Given the description of an element on the screen output the (x, y) to click on. 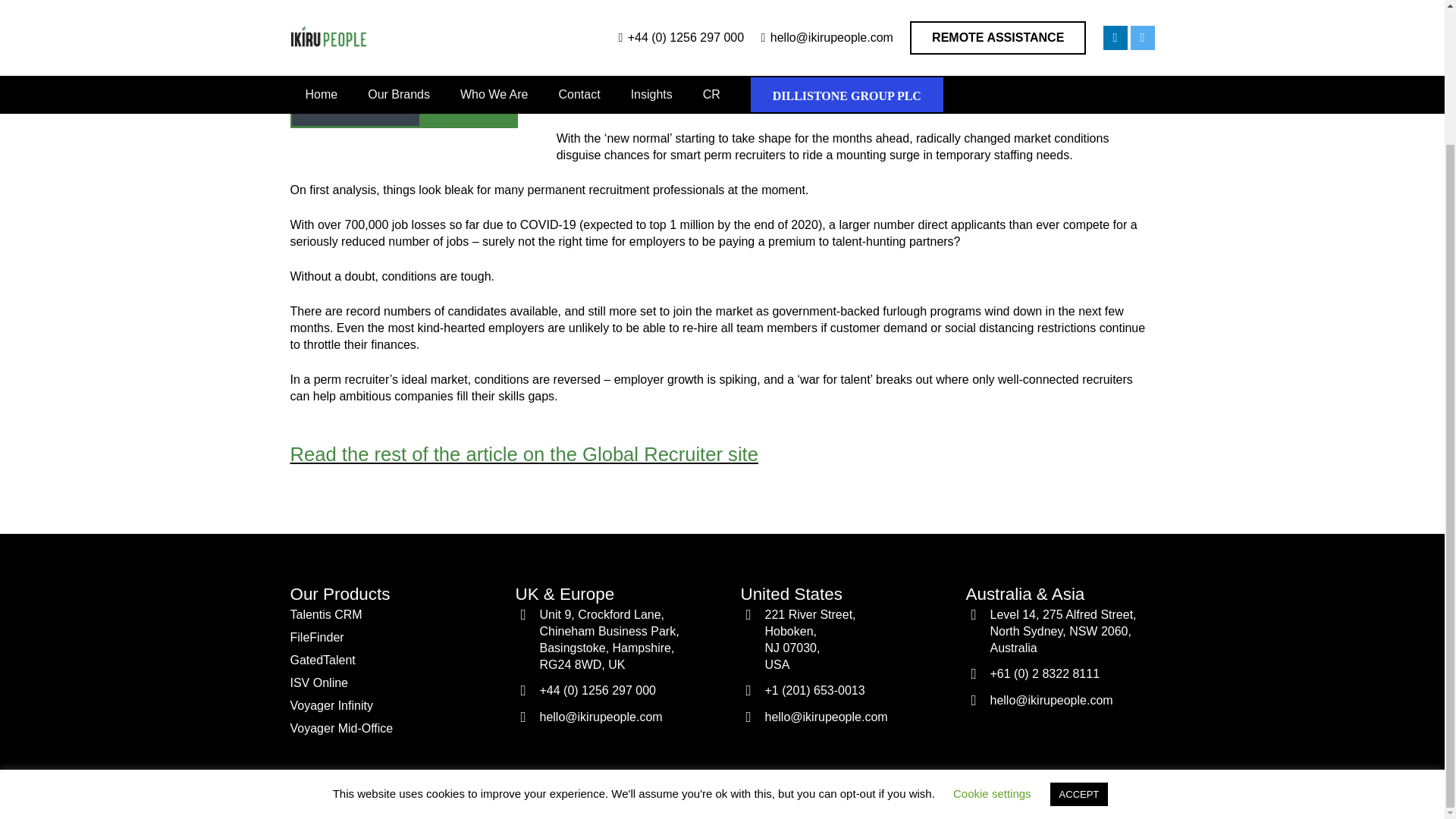
Talentis CRM (325, 614)
GatedTalent (322, 659)
Voyager Infinity (330, 705)
FileFinder (316, 636)
Read the rest of the article on the Global Recruiter site (833, 639)
ISV Online (523, 454)
Voyager Mid-Office (318, 682)
